Given the description of an element on the screen output the (x, y) to click on. 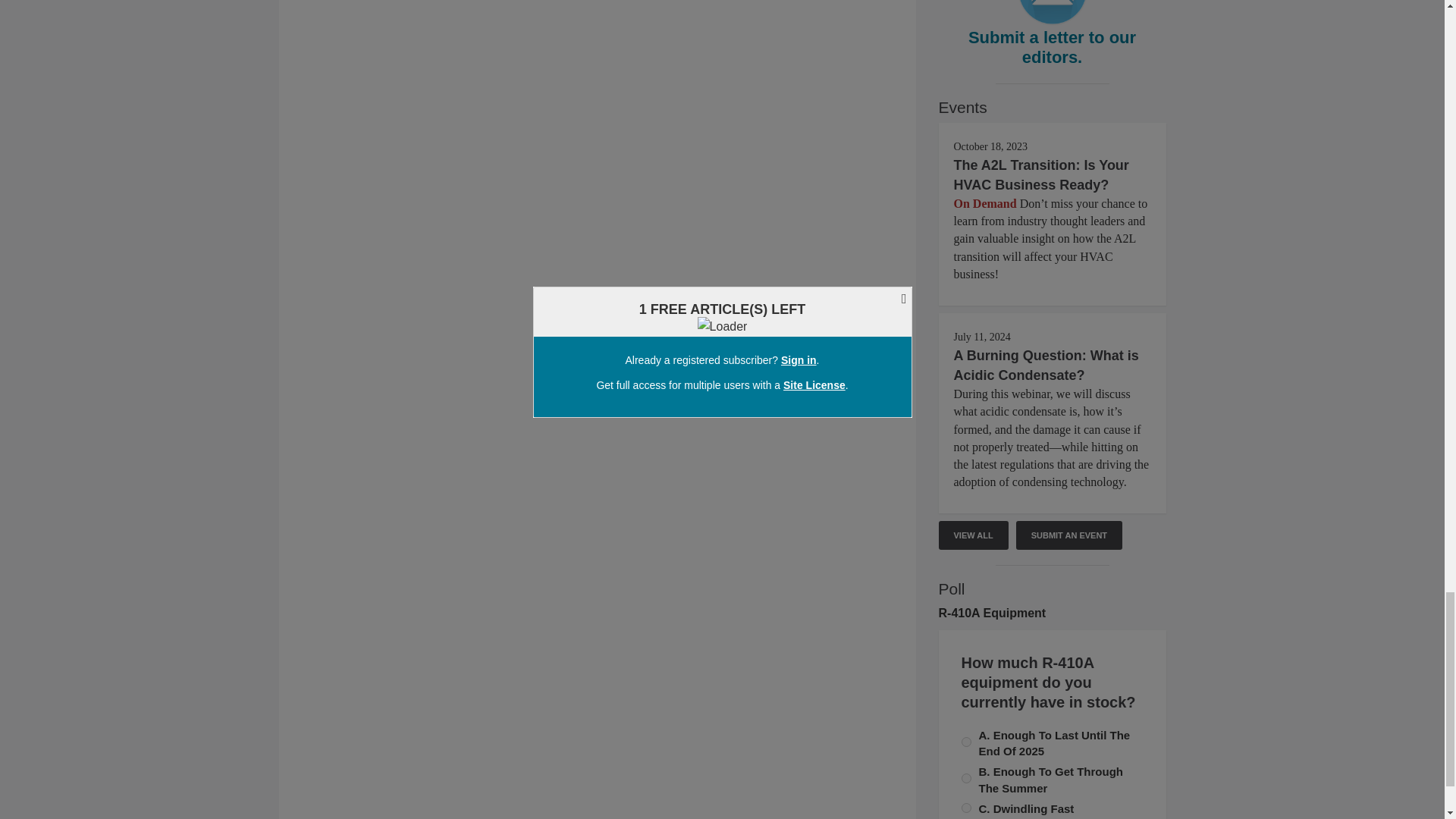
597 (965, 741)
596 (965, 777)
598 (965, 808)
